Given the description of an element on the screen output the (x, y) to click on. 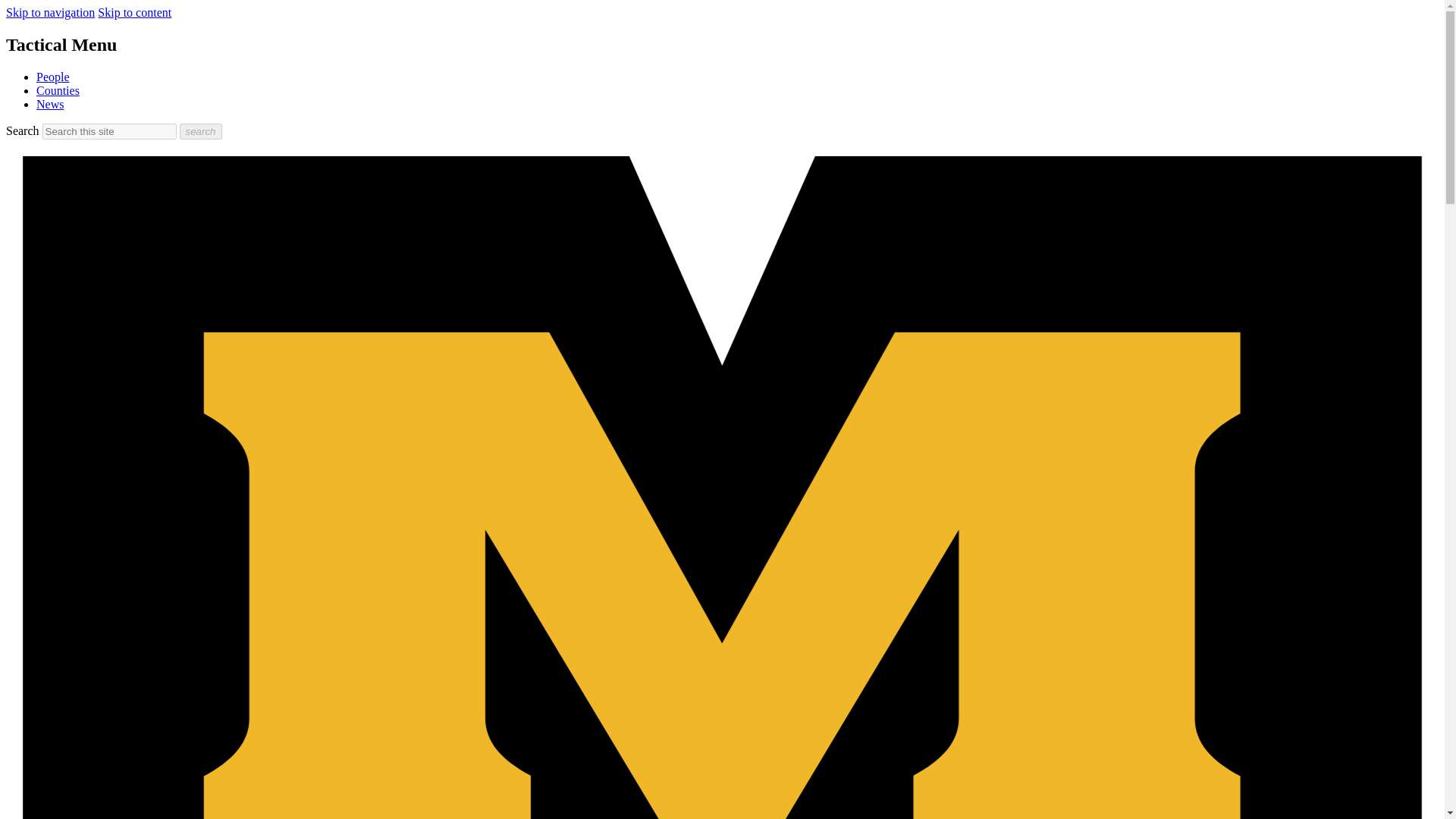
search (200, 131)
Skip to content (134, 11)
People (52, 76)
Counties (58, 90)
Skip to navigation (49, 11)
News (50, 103)
